Given the description of an element on the screen output the (x, y) to click on. 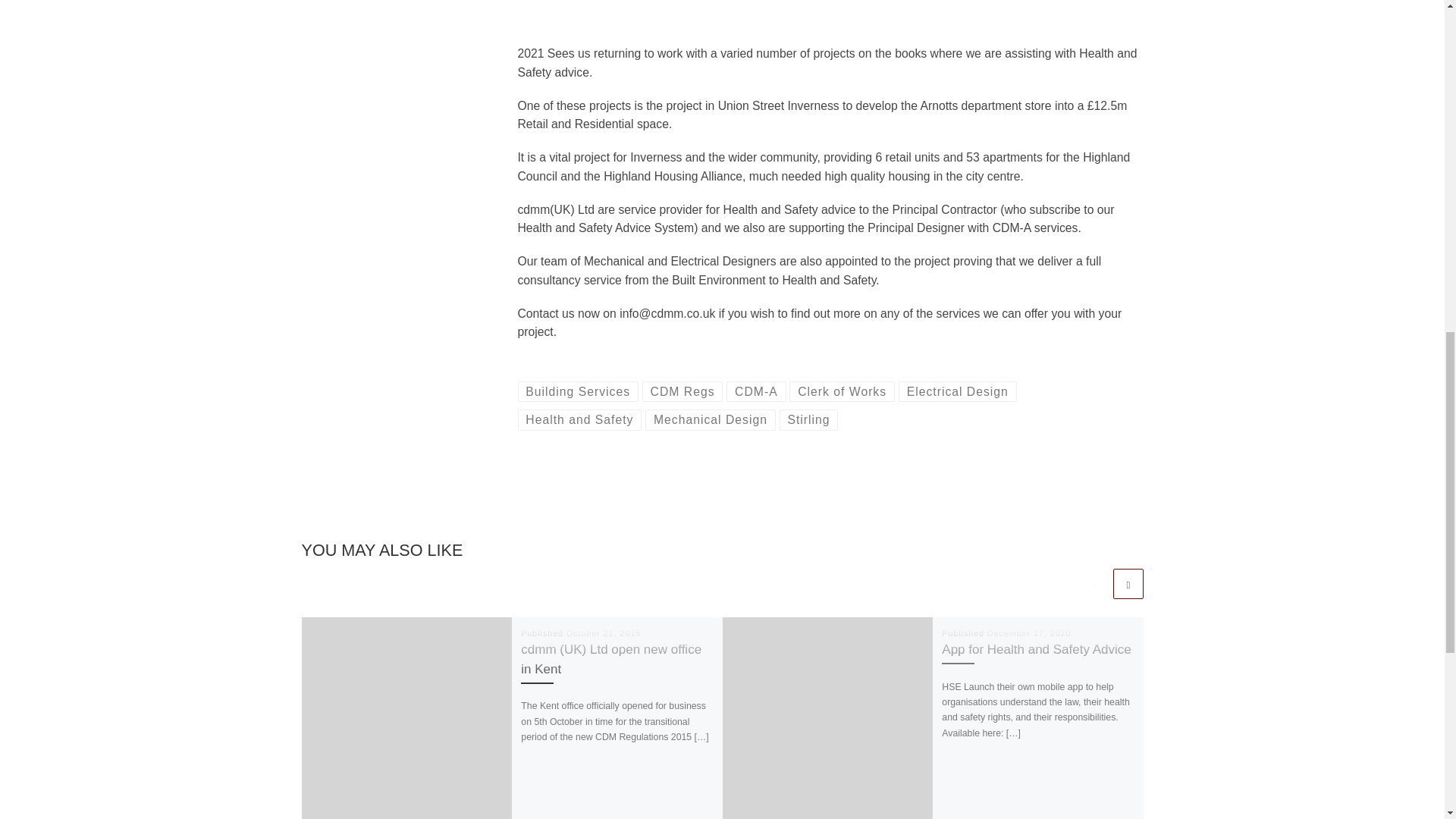
Next related articles (1127, 583)
Previous related articles (1094, 583)
View all posts in Electrical Design (957, 391)
View all posts in Building Services (576, 391)
View all posts in Mechanical Design (710, 419)
View all posts in Clerk of Works (842, 391)
View all posts in CDM Regs (682, 391)
View all posts in Stirling (808, 419)
View all posts in Health and Safety (579, 419)
